Given the description of an element on the screen output the (x, y) to click on. 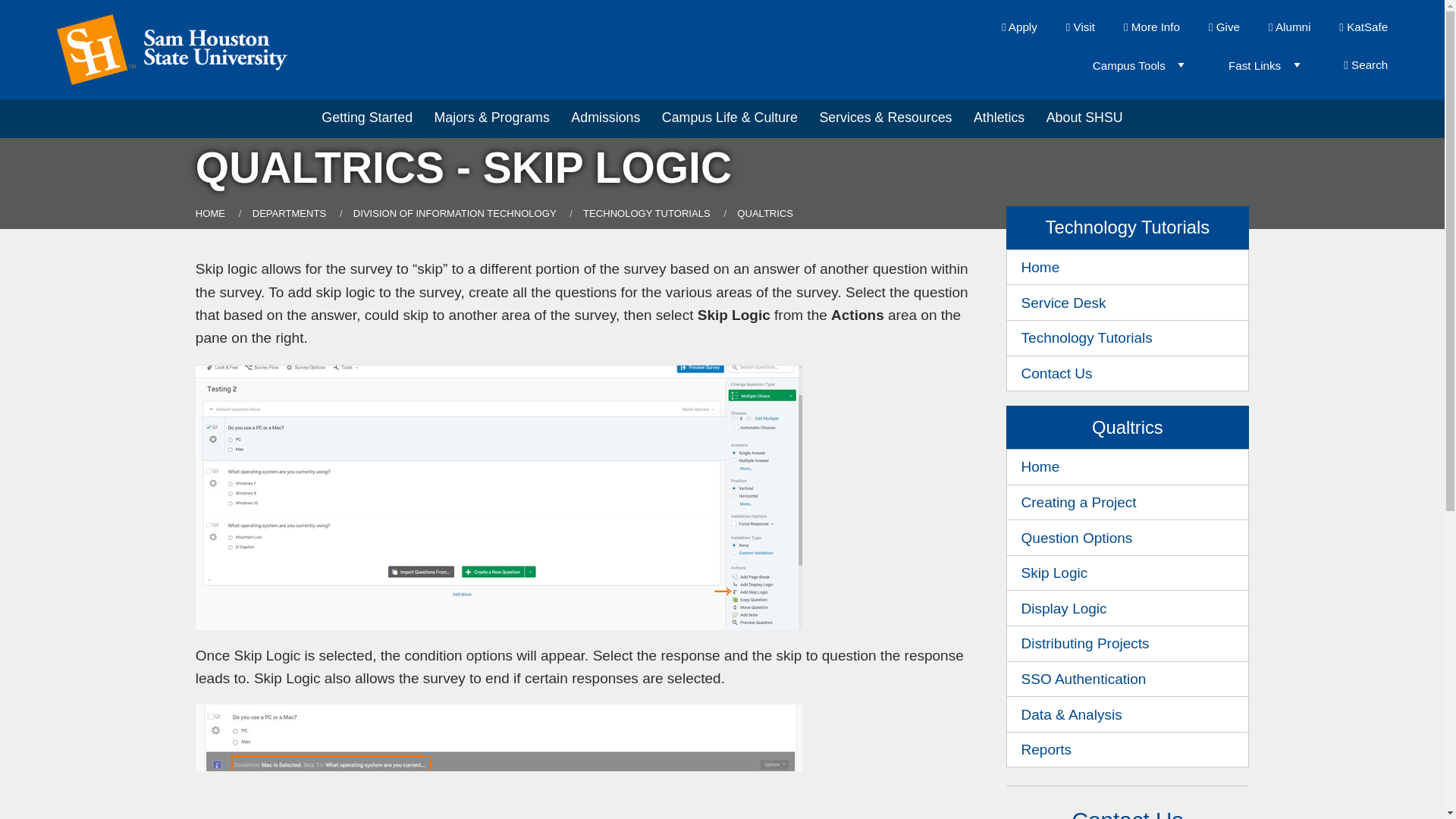
Qualtrics Home (1128, 466)
Give (1223, 26)
Visit (1080, 26)
KatSafe (1363, 26)
Apply (1019, 26)
SSO Authentication (1128, 678)
More Info (1151, 26)
Alumni (1288, 26)
Alumni (1288, 26)
Campus Tools (1132, 65)
